Given the description of an element on the screen output the (x, y) to click on. 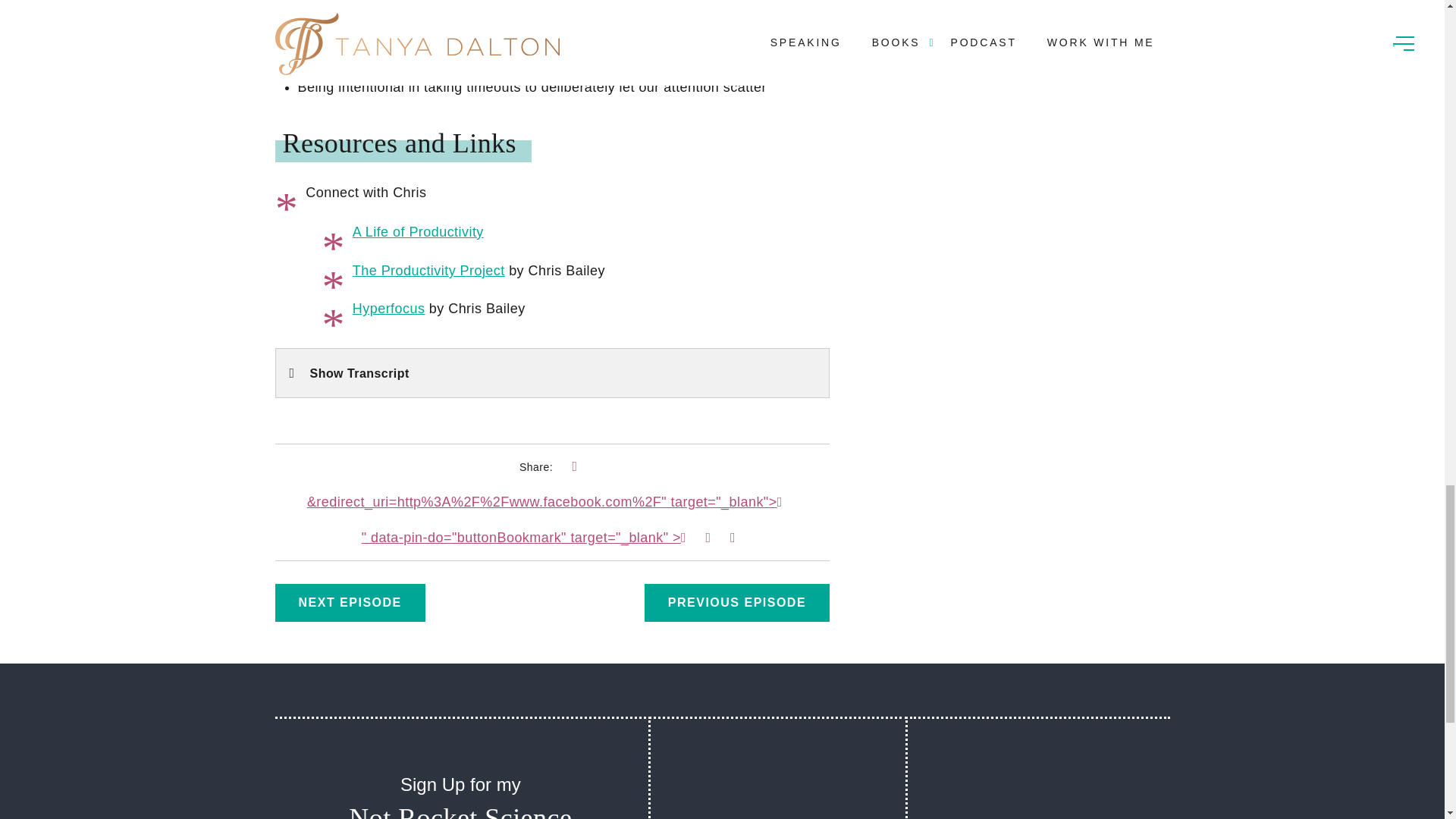
Hyperfocus (388, 308)
The Productivity Project (428, 270)
A Life of Productivity (417, 231)
